Given the description of an element on the screen output the (x, y) to click on. 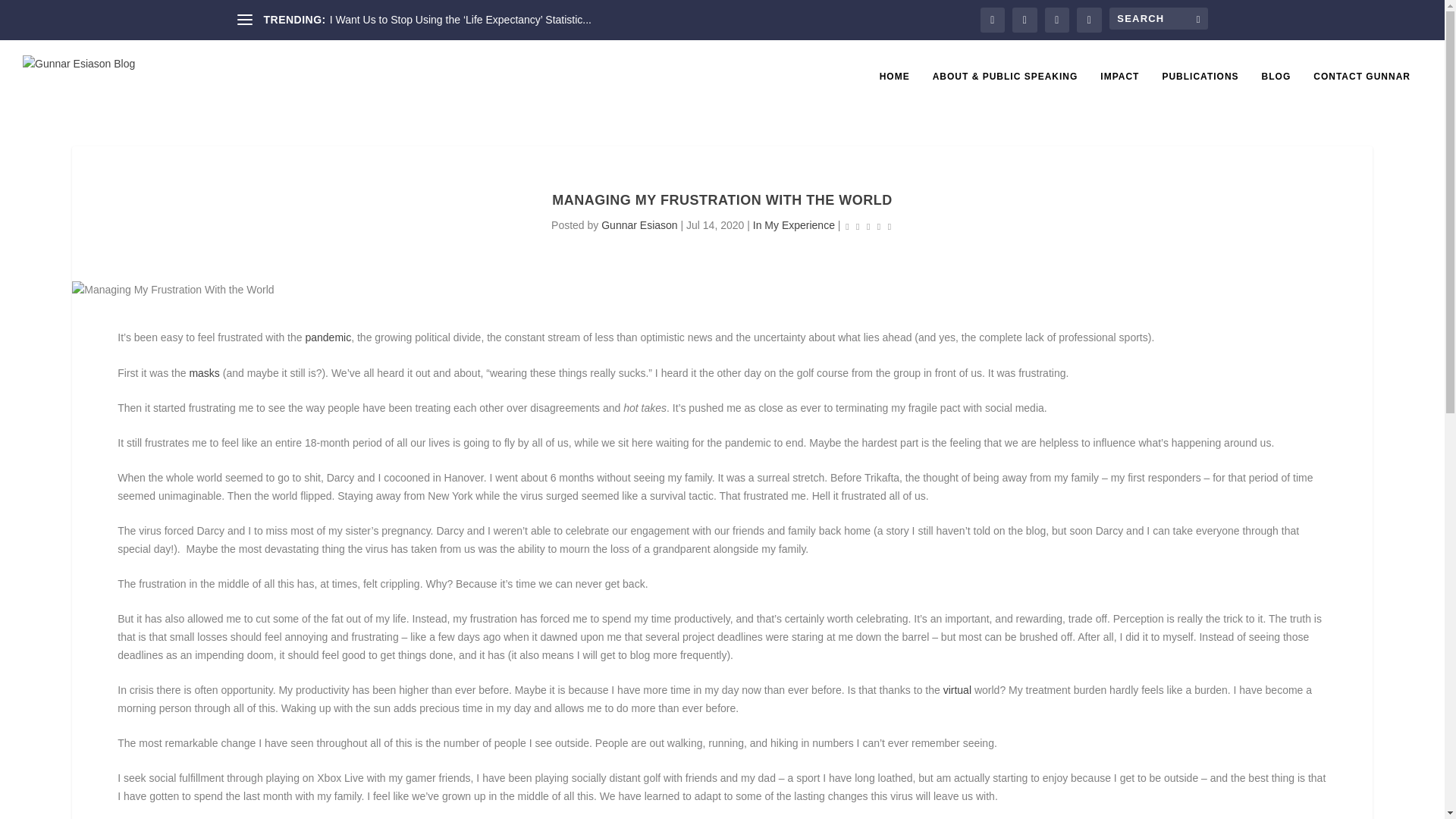
Rating: 0.00 (868, 226)
Search for: (1157, 18)
PUBLICATIONS (1200, 92)
virtual (957, 689)
Gunnar Esiason (639, 224)
pandemic (327, 337)
Posts by Gunnar Esiason (639, 224)
CONTACT GUNNAR (1361, 92)
In My Experience (793, 224)
masks (204, 372)
